Given the description of an element on the screen output the (x, y) to click on. 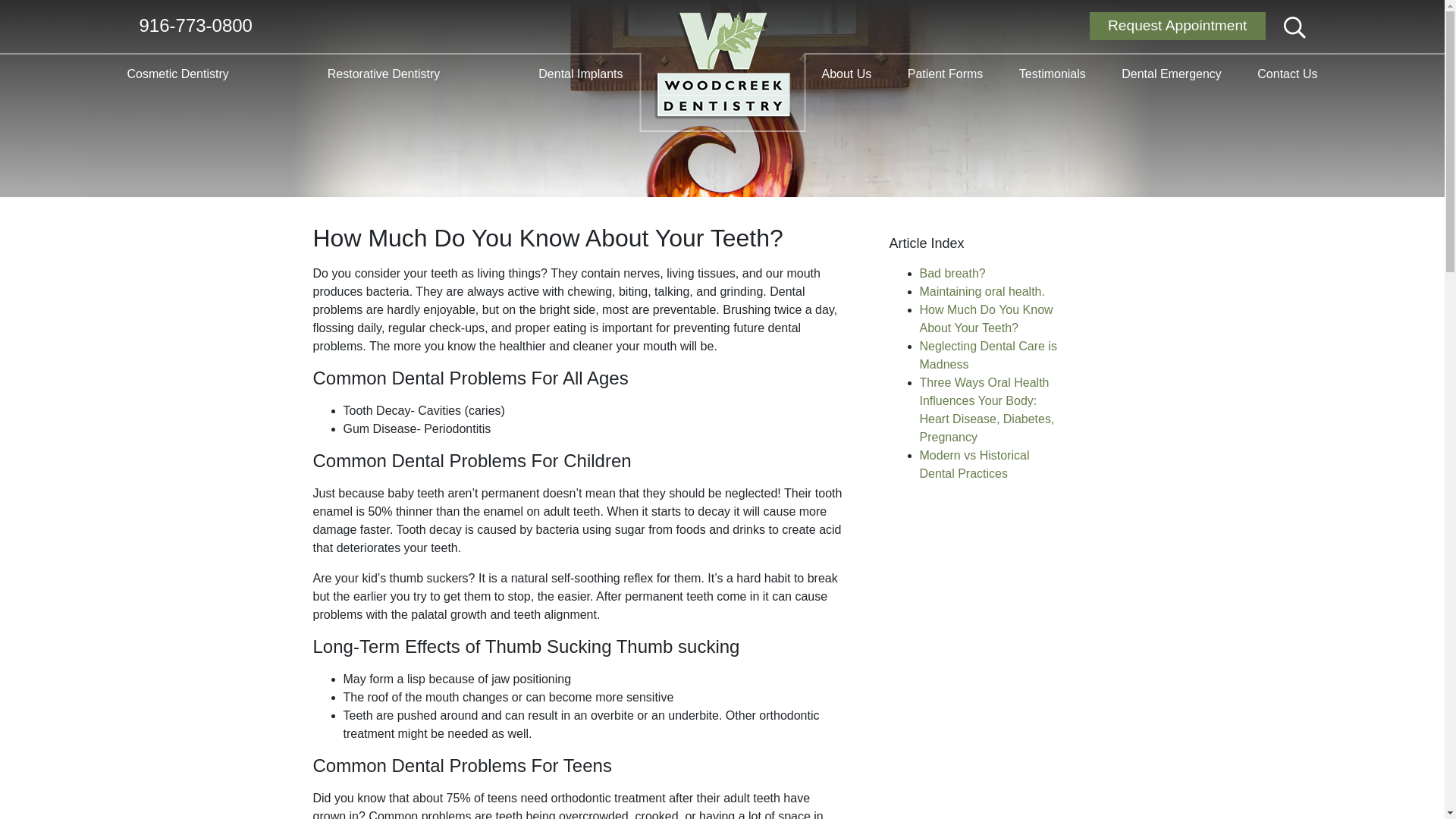
Maintaining oral health. (980, 291)
Dentist (721, 66)
Modern vs Historical Dental Practices (973, 463)
Dental Implants (580, 74)
Dental Emergency (1168, 74)
Request Appointment (1177, 26)
search bar (1295, 27)
916-773-0800 (195, 25)
About Us (847, 74)
Restorative Dentistry (386, 74)
